Given the description of an element on the screen output the (x, y) to click on. 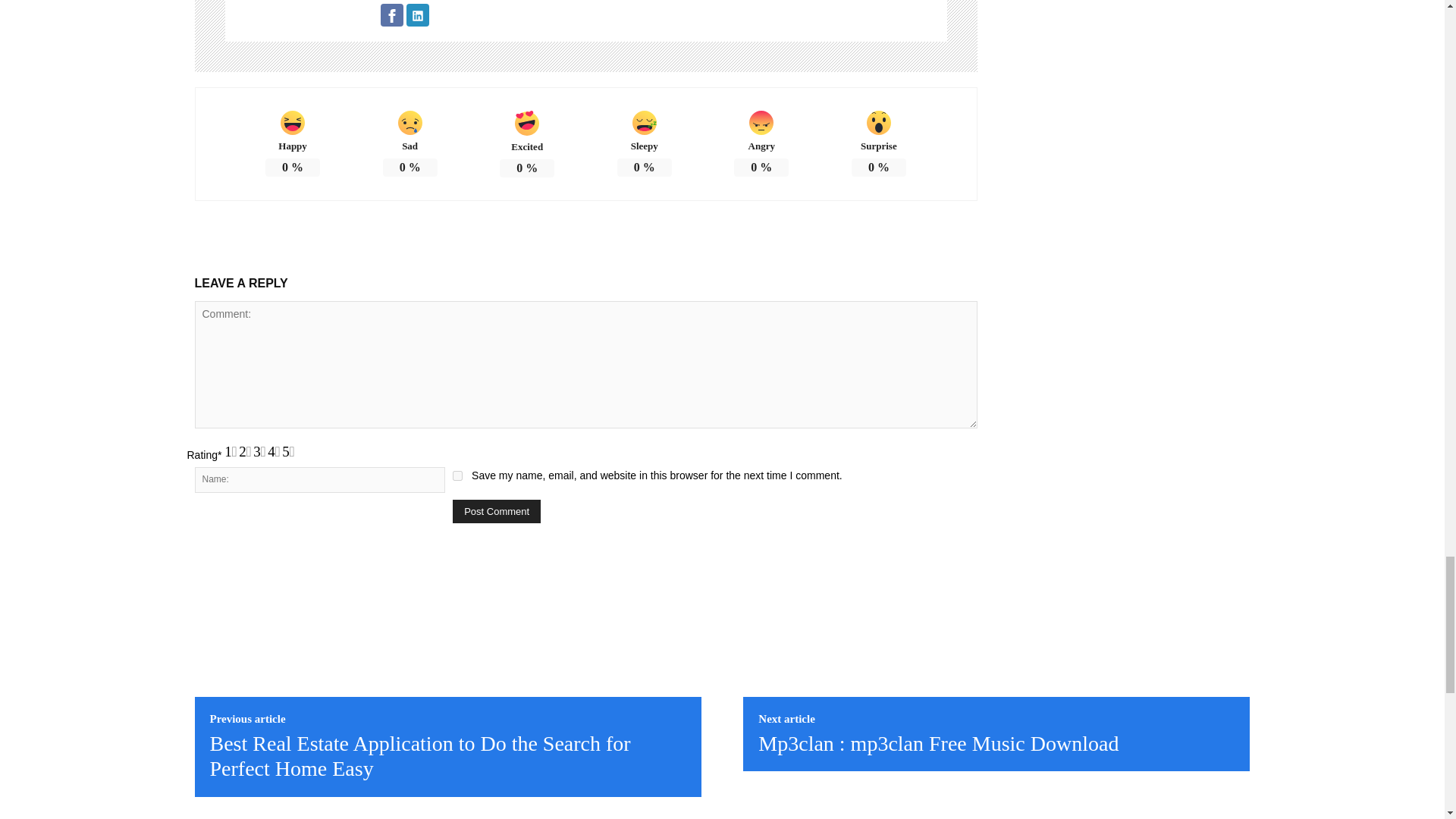
Post Comment (496, 511)
yes (457, 475)
